Given the description of an element on the screen output the (x, y) to click on. 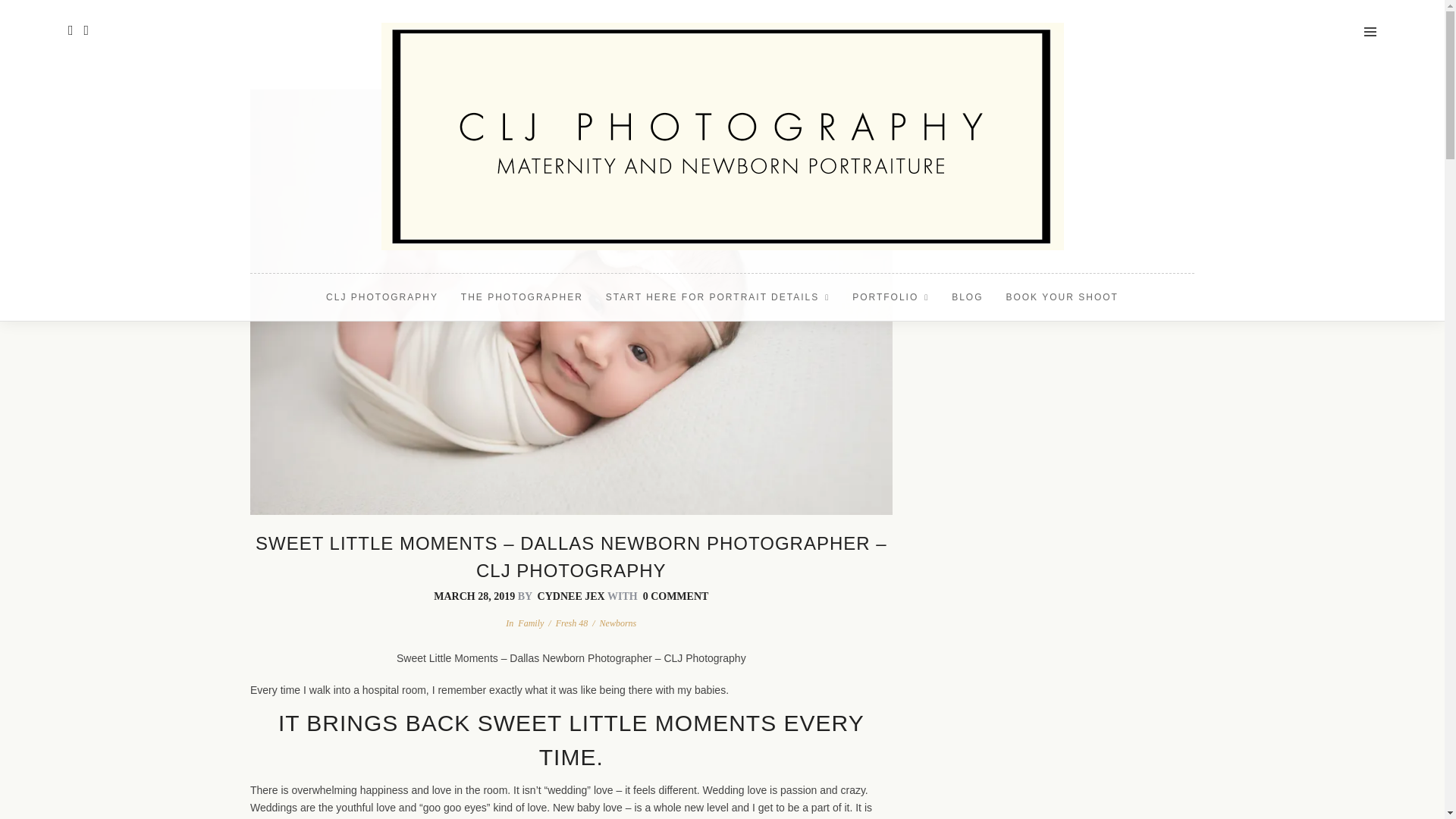
0 COMMENT (676, 595)
CLJ PHOTOGRAPHY (381, 297)
BOOK YOUR SHOOT (1060, 297)
MARCH 28, 2019 (474, 595)
CYDNEE JEX (571, 595)
Family (530, 623)
Fresh 48 (572, 623)
PORTFOLIO (891, 297)
THE PHOTOGRAPHER (521, 297)
START HERE FOR PORTRAIT DETAILS (717, 297)
